Given the description of an element on the screen output the (x, y) to click on. 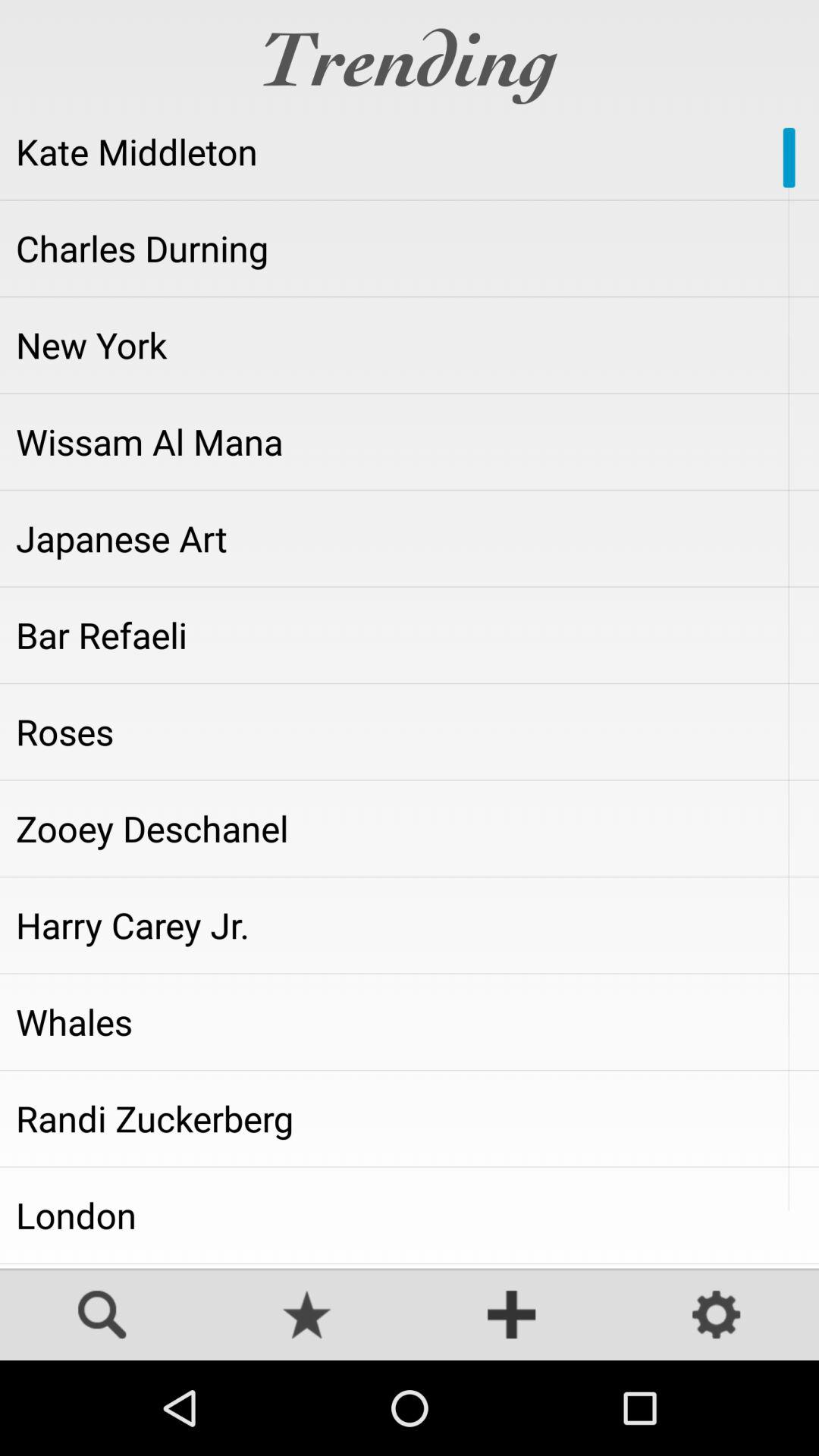
search for trending (102, 1316)
